Given the description of an element on the screen output the (x, y) to click on. 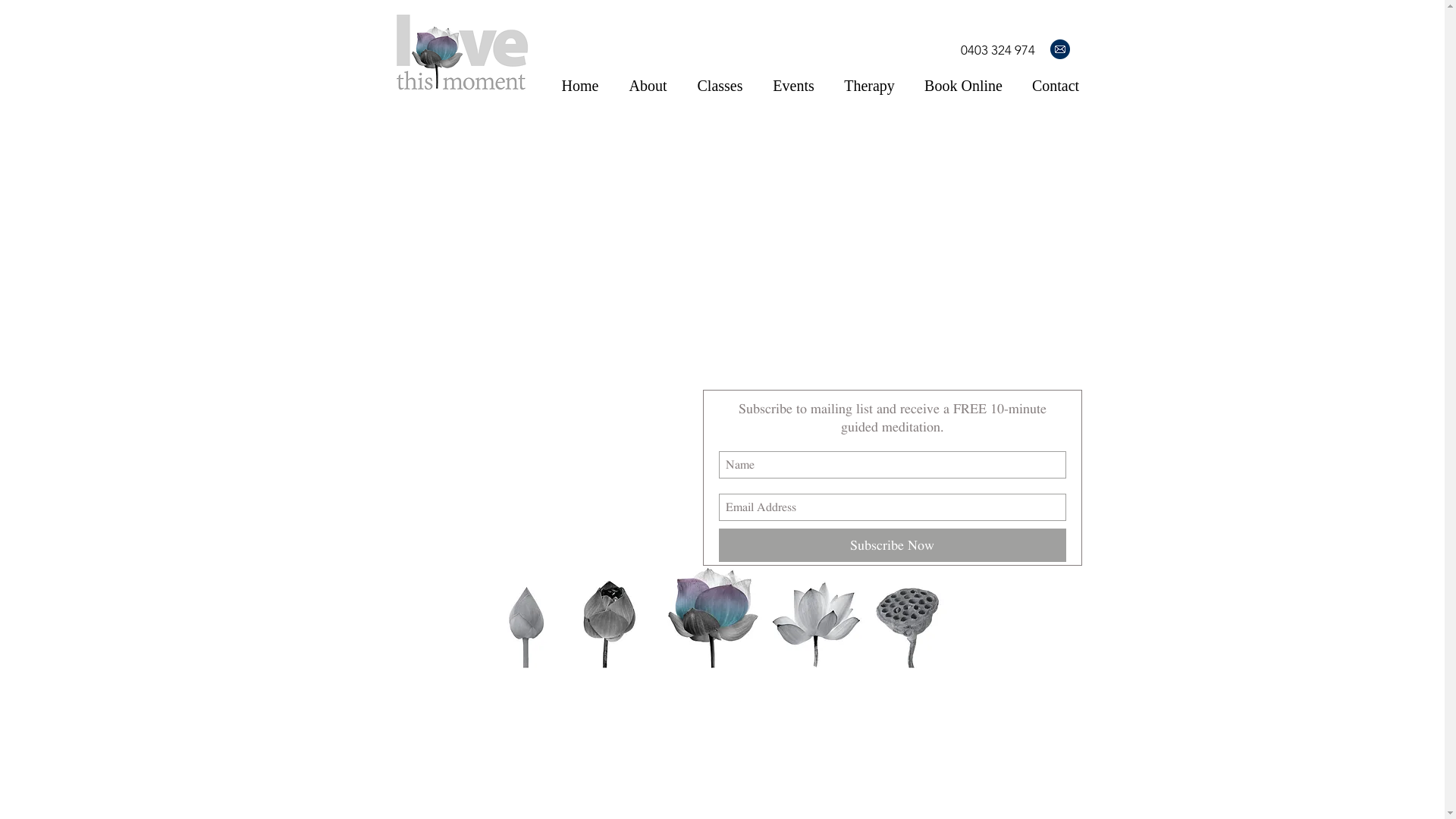
Book Online Element type: text (963, 85)
Contact Element type: text (1055, 85)
About Element type: text (648, 85)
Therapy Element type: text (869, 85)
Classes Element type: text (720, 85)
Subscribe Now Element type: text (892, 544)
Home Element type: text (579, 85)
Events Element type: text (793, 85)
